Given the description of an element on the screen output the (x, y) to click on. 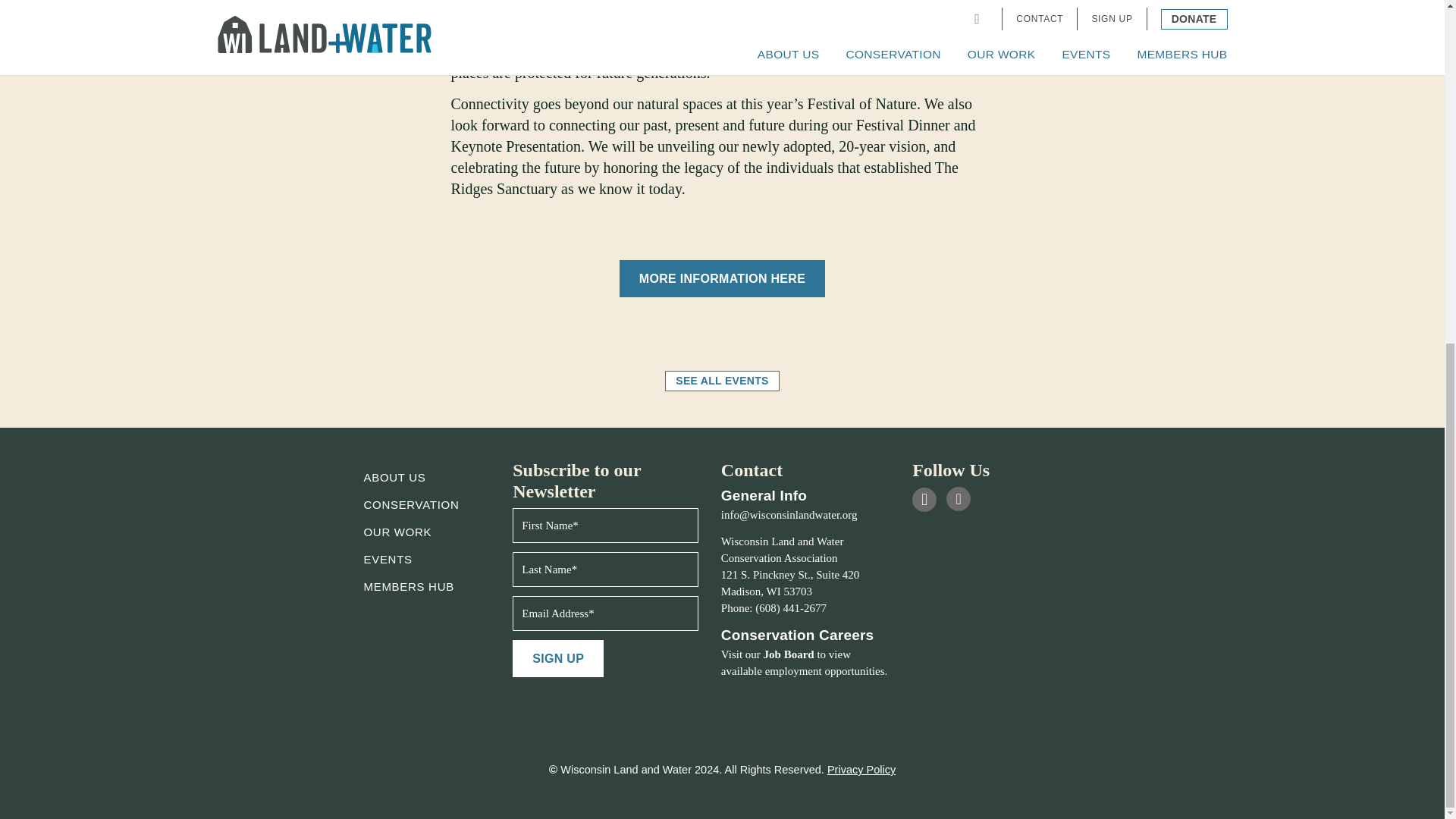
OUR WORK (398, 531)
Privacy Policy (861, 769)
MORE INFORMATION HERE (722, 278)
MEMBERS HUB (409, 585)
SEE ALL EVENTS (721, 381)
EVENTS (388, 558)
ABOUT US (395, 477)
Job Board (787, 654)
SIGN UP (558, 658)
CONSERVATION (412, 504)
